Given the description of an element on the screen output the (x, y) to click on. 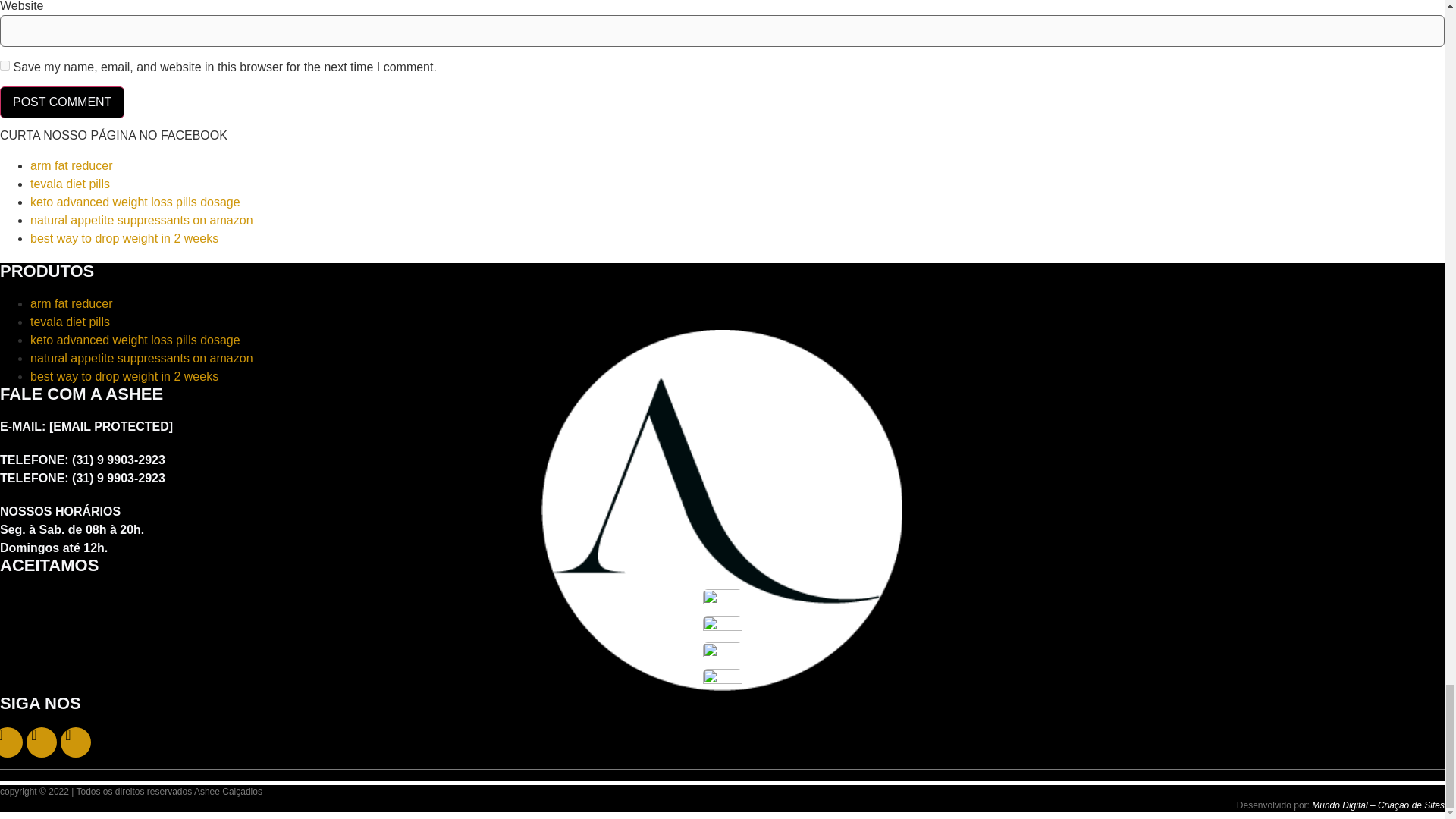
tevala diet pills (70, 321)
arm fat reducer (71, 303)
best way to drop weight in 2 weeks (124, 376)
keto advanced weight loss pills dosage (135, 201)
tevala diet pills (70, 183)
arm fat reducer (71, 164)
Post Comment (61, 101)
keto advanced weight loss pills dosage (135, 339)
Post Comment (61, 101)
natural appetite suppressants on amazon (141, 219)
yes (5, 65)
natural appetite suppressants on amazon (141, 358)
best way to drop weight in 2 weeks (124, 237)
